Given the description of an element on the screen output the (x, y) to click on. 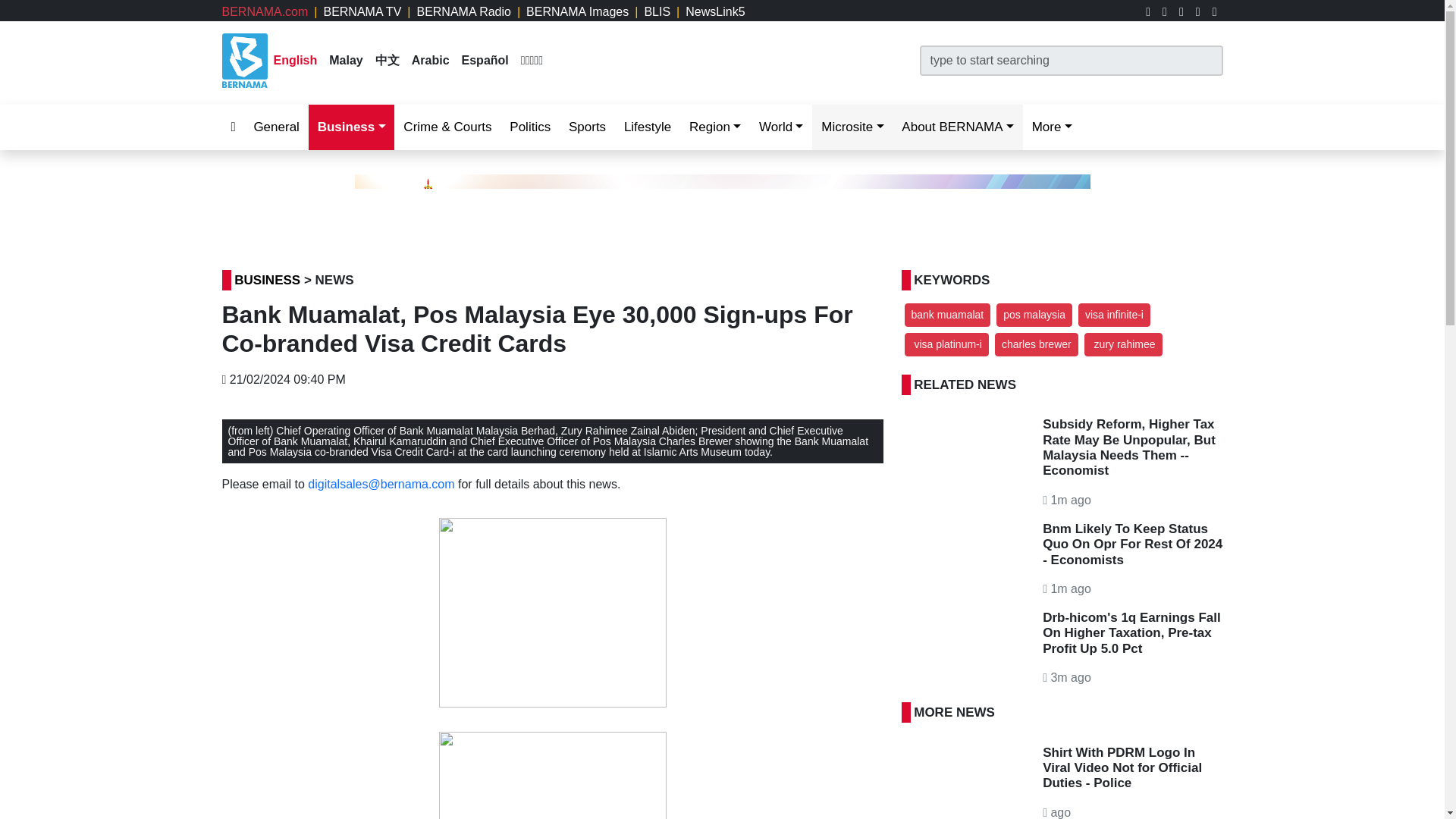
NewsLink5 (714, 11)
English (295, 60)
Region (714, 126)
Politics (529, 126)
Sports (586, 126)
BERNAMA Radio (463, 11)
World (780, 126)
BERNAMA TV (362, 11)
Malay (345, 60)
BERNAMA.com (264, 11)
